Given the description of an element on the screen output the (x, y) to click on. 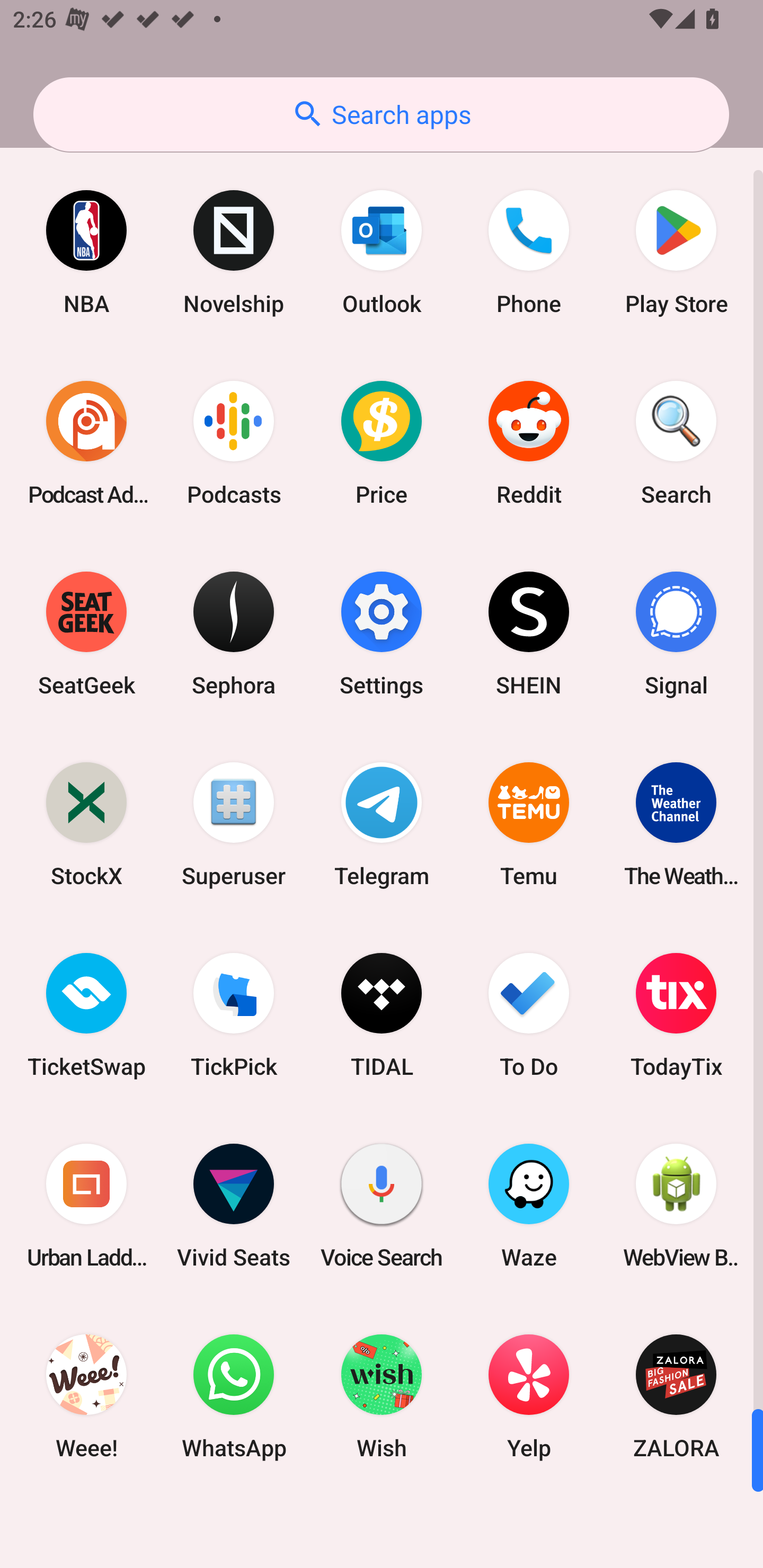
Signal (676, 633)
